Given the description of an element on the screen output the (x, y) to click on. 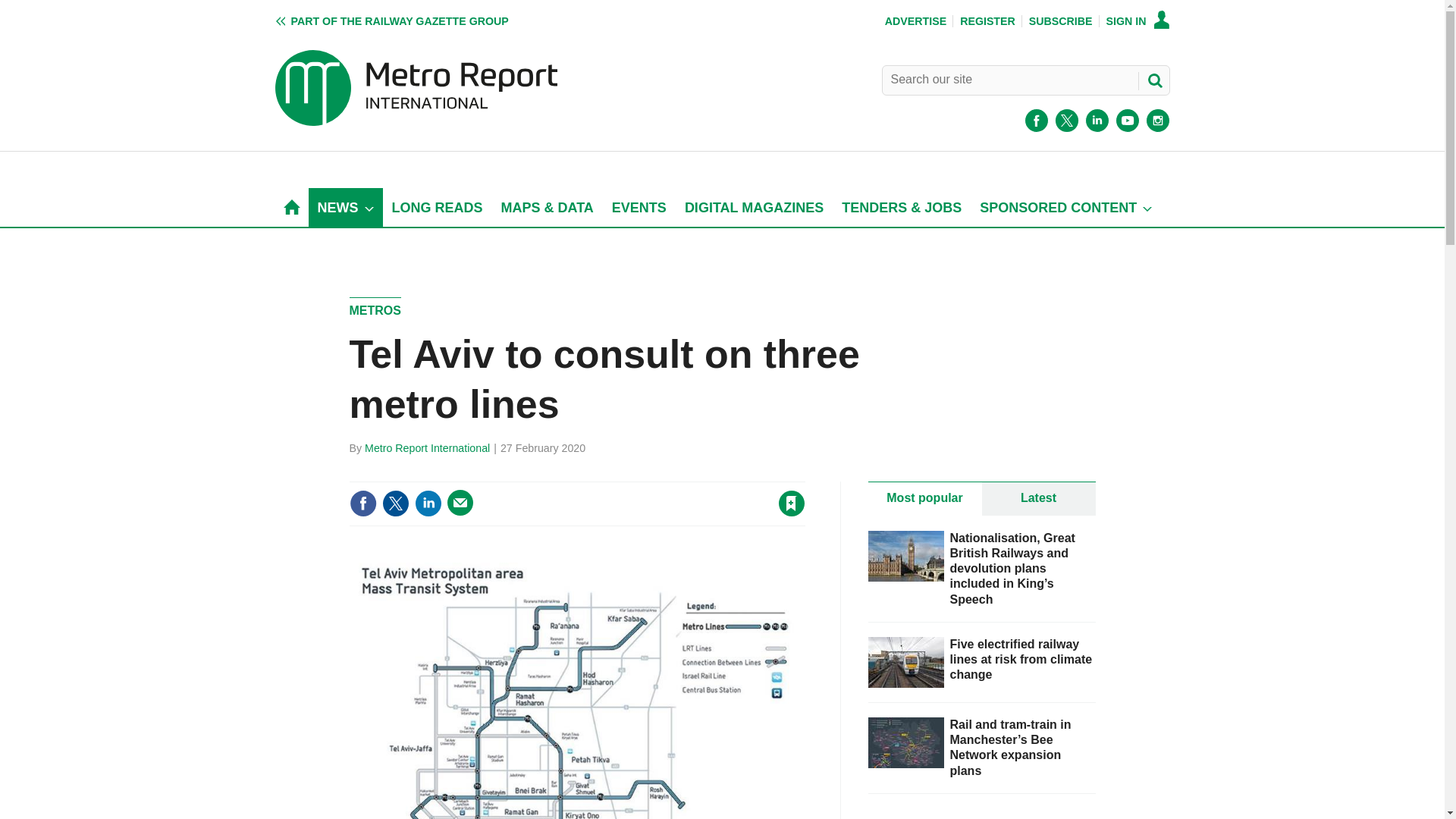
PART OF THE RAILWAY GAZETTE GROUP (391, 21)
SEARCH (1153, 79)
Share this on Twitter (395, 502)
Share this on Linked in (427, 502)
Metro Report (415, 121)
Email this article (459, 502)
SIGN IN (1138, 21)
ADVERTISE (915, 21)
Share this on Facebook (362, 502)
SUBSCRIBE (1061, 21)
REGISTER (986, 21)
